Given the description of an element on the screen output the (x, y) to click on. 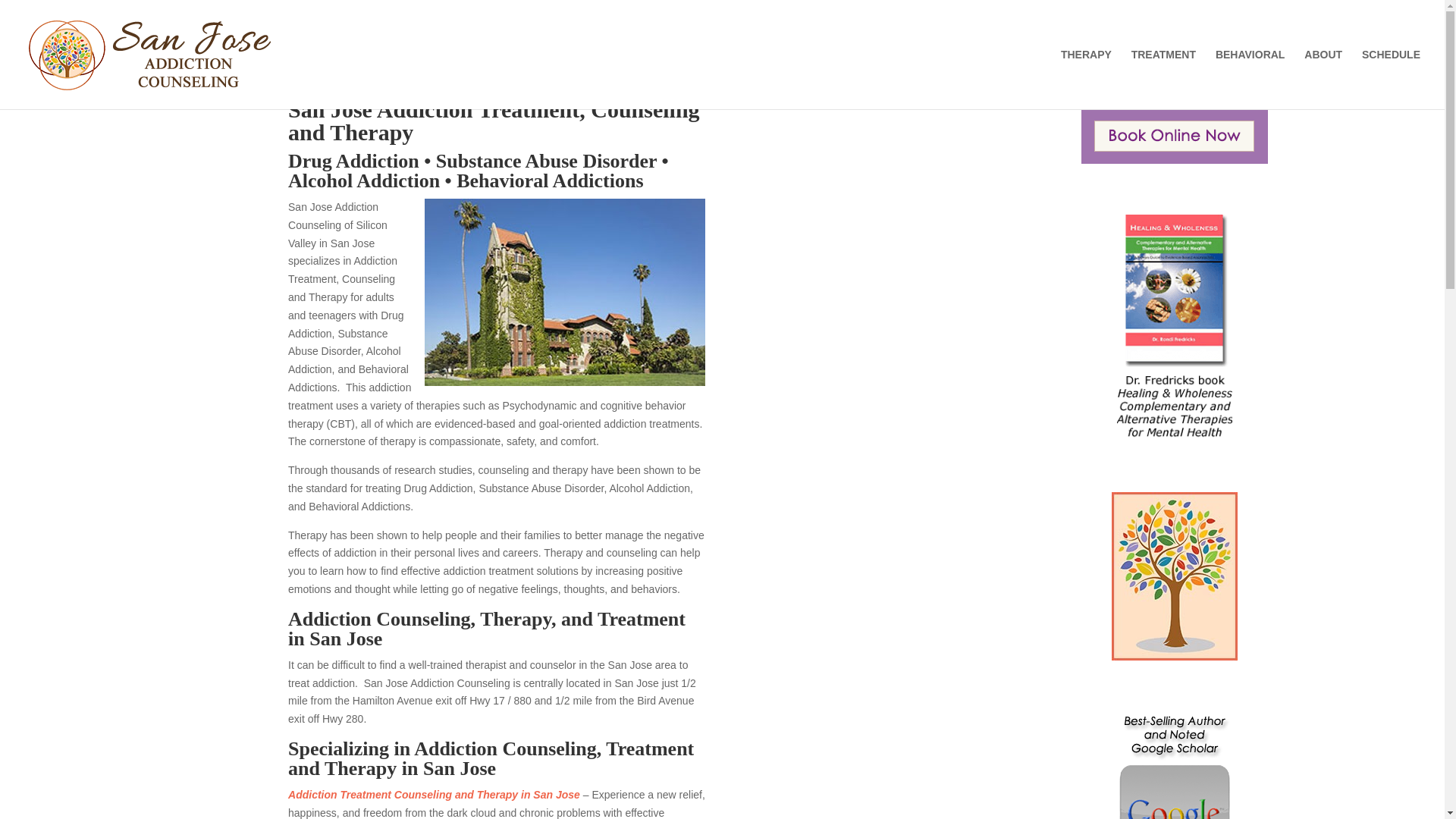
SCHEDULE (1391, 78)
Addiction Treatment Counseling and Therapy in San Jose (433, 794)
TREATMENT (1163, 78)
Addiction Scholar (1174, 765)
BEHAVIORAL (1250, 78)
San Jose Addiction Counseling Appointment (1174, 136)
